Given the description of an element on the screen output the (x, y) to click on. 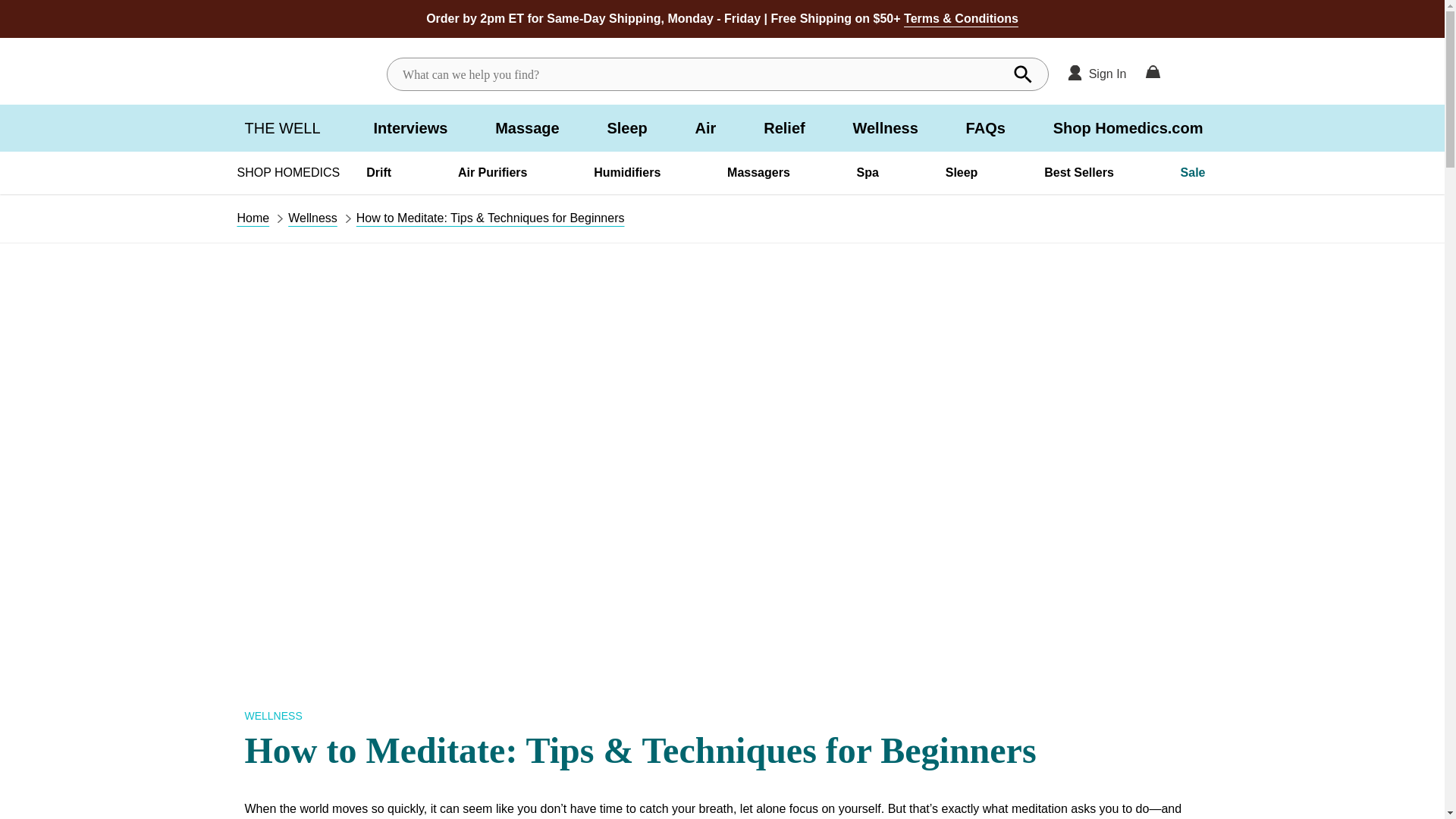
Massage (527, 127)
Interviews (411, 127)
Humidifiers (627, 172)
Massagers (758, 172)
Wellness (884, 127)
Cart (1152, 74)
Shop Homedics.com (1128, 127)
Best Sellers (1078, 172)
Sign In (1096, 74)
Air Purifiers (492, 172)
